Given the description of an element on the screen output the (x, y) to click on. 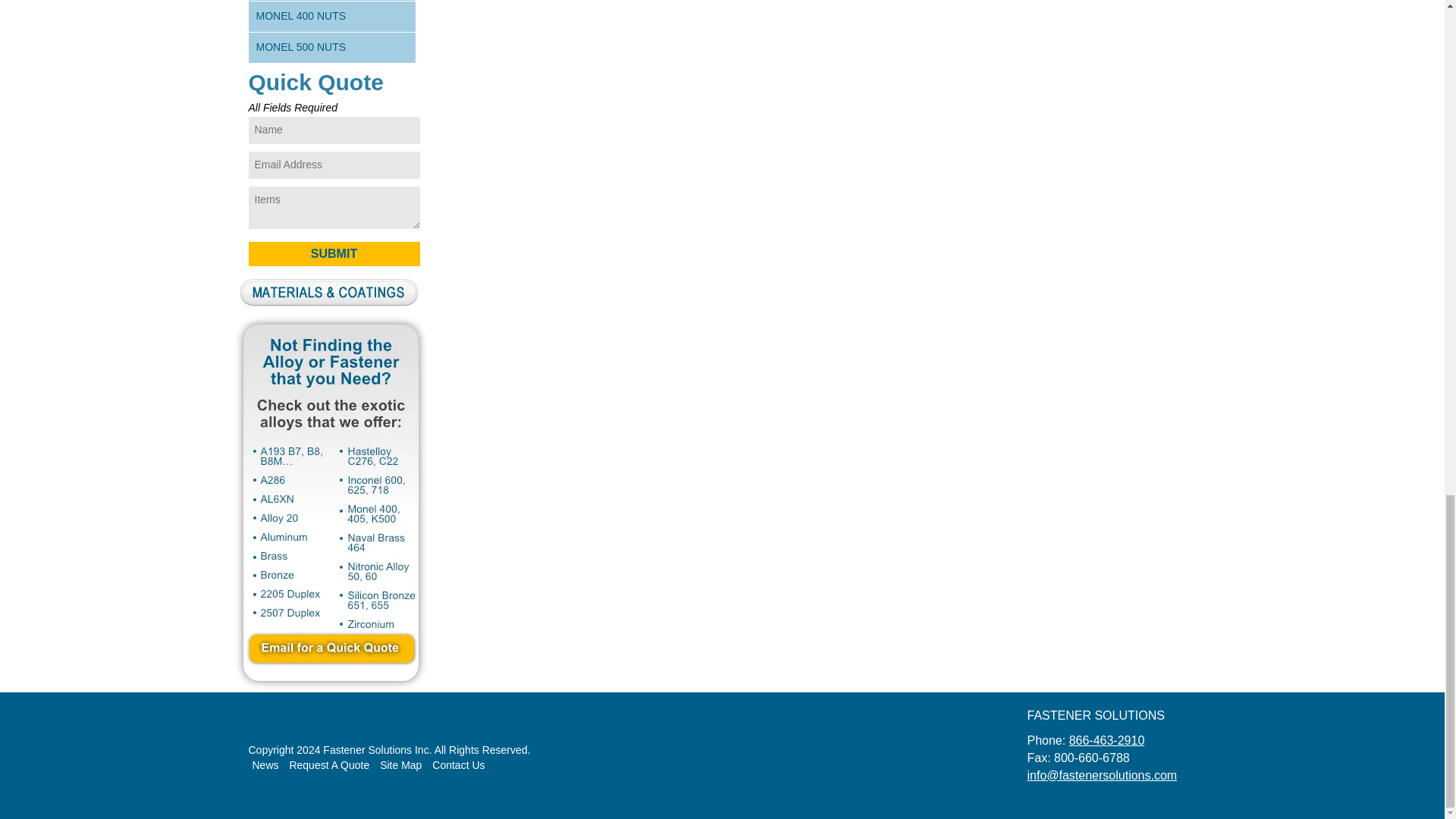
SUBMIT (334, 253)
